Given the description of an element on the screen output the (x, y) to click on. 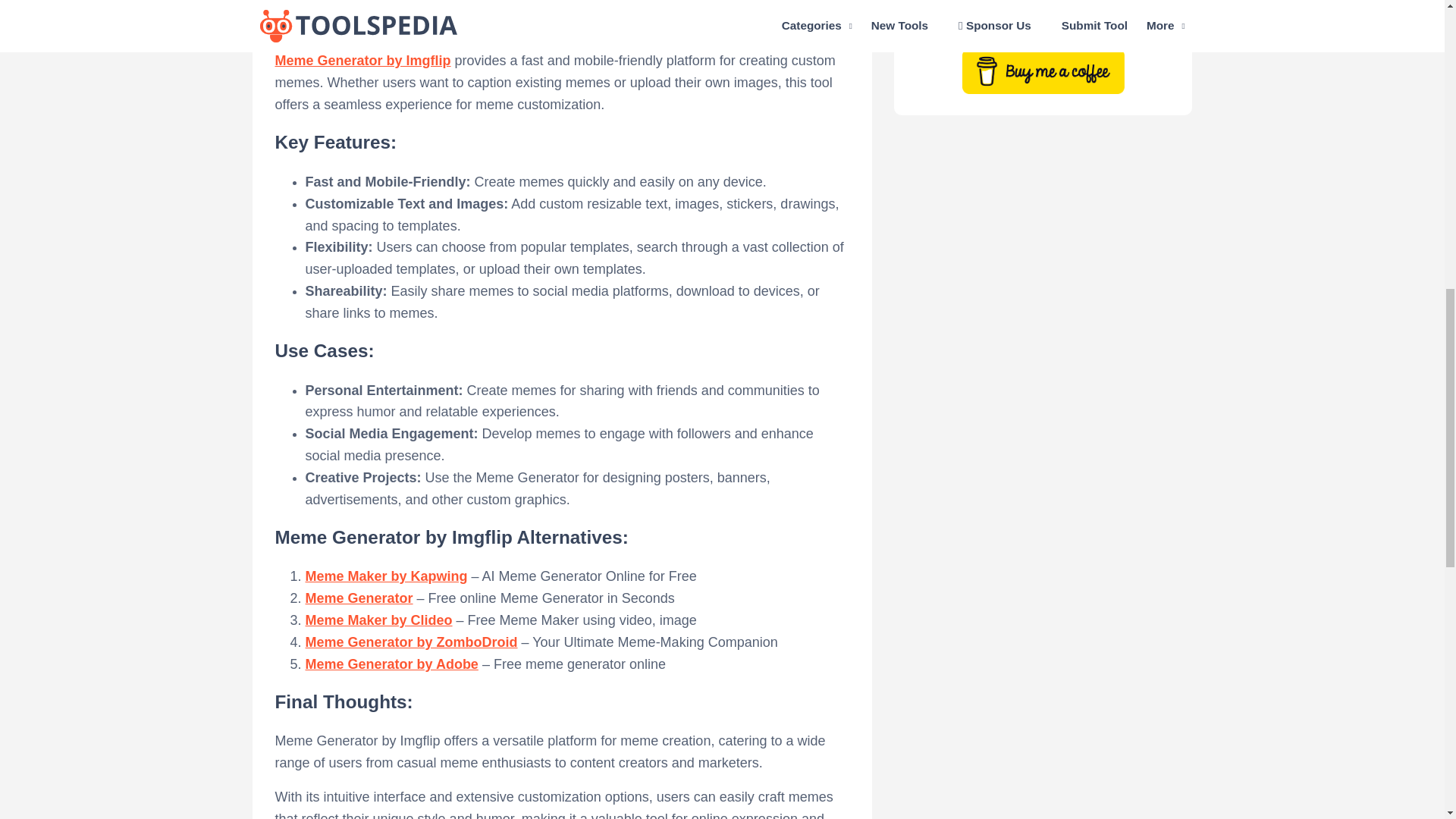
Advertisement (561, 6)
